Given the description of an element on the screen output the (x, y) to click on. 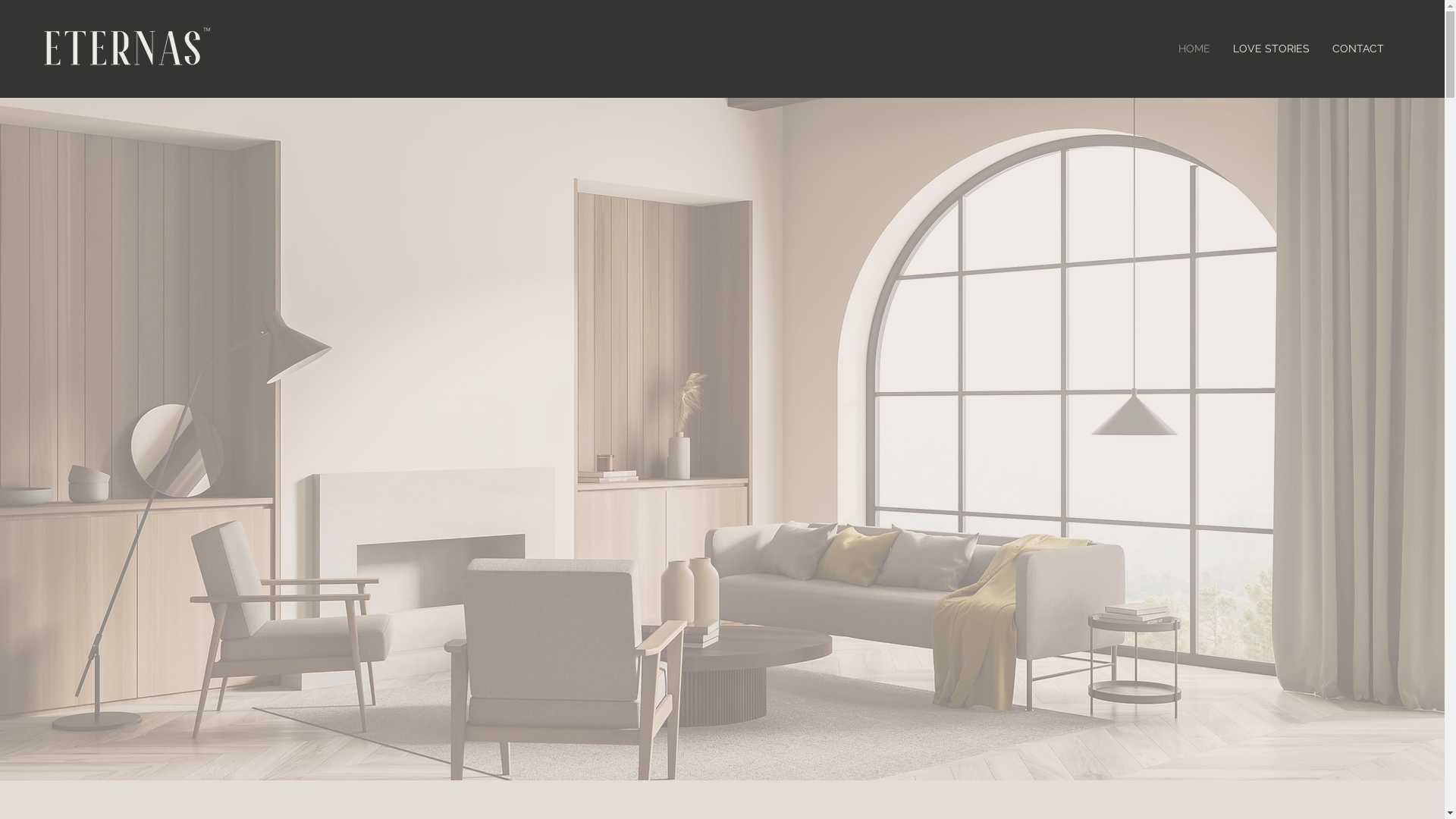
LOVE STORIES Element type: text (1271, 48)
CONTACT Element type: text (1358, 48)
HOME Element type: text (1194, 48)
